Given the description of an element on the screen output the (x, y) to click on. 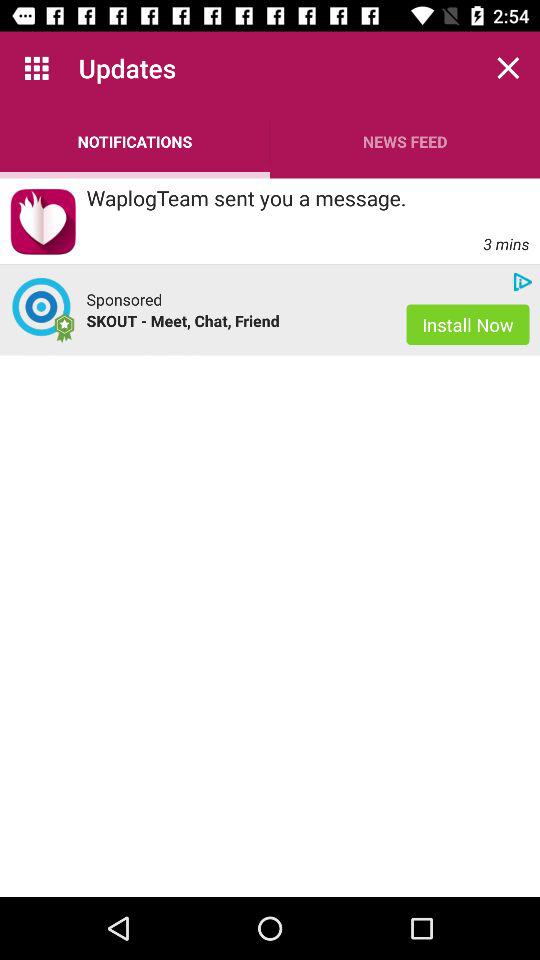
scroll to the sponsored app (124, 299)
